Given the description of an element on the screen output the (x, y) to click on. 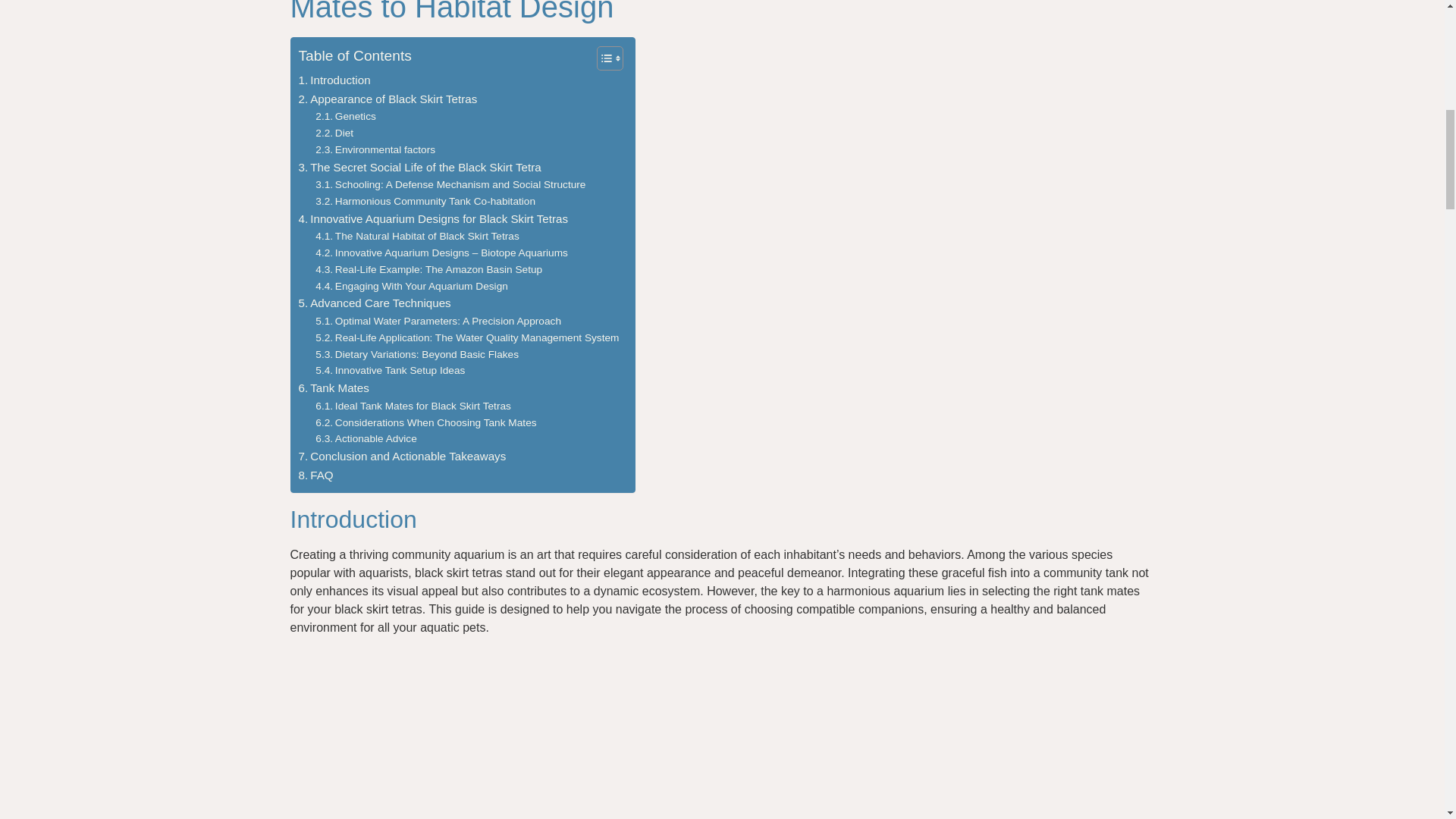
Genetics (345, 116)
Conclusion and Actionable Takeaways (402, 456)
Advanced Care Techniques (374, 303)
Harmonious Community Tank Co-habitation (425, 201)
Innovative Aquarium Designs for Black Skirt Tetras (433, 218)
Innovative Aquarium Designs for Black Skirt Tetras (433, 218)
The Natural Habitat of Black Skirt Tetras (416, 236)
Optimal Water Parameters: A Precision Approach (437, 321)
Dietary Variations: Beyond Basic Flakes (416, 354)
FAQ (315, 475)
